Given the description of an element on the screen output the (x, y) to click on. 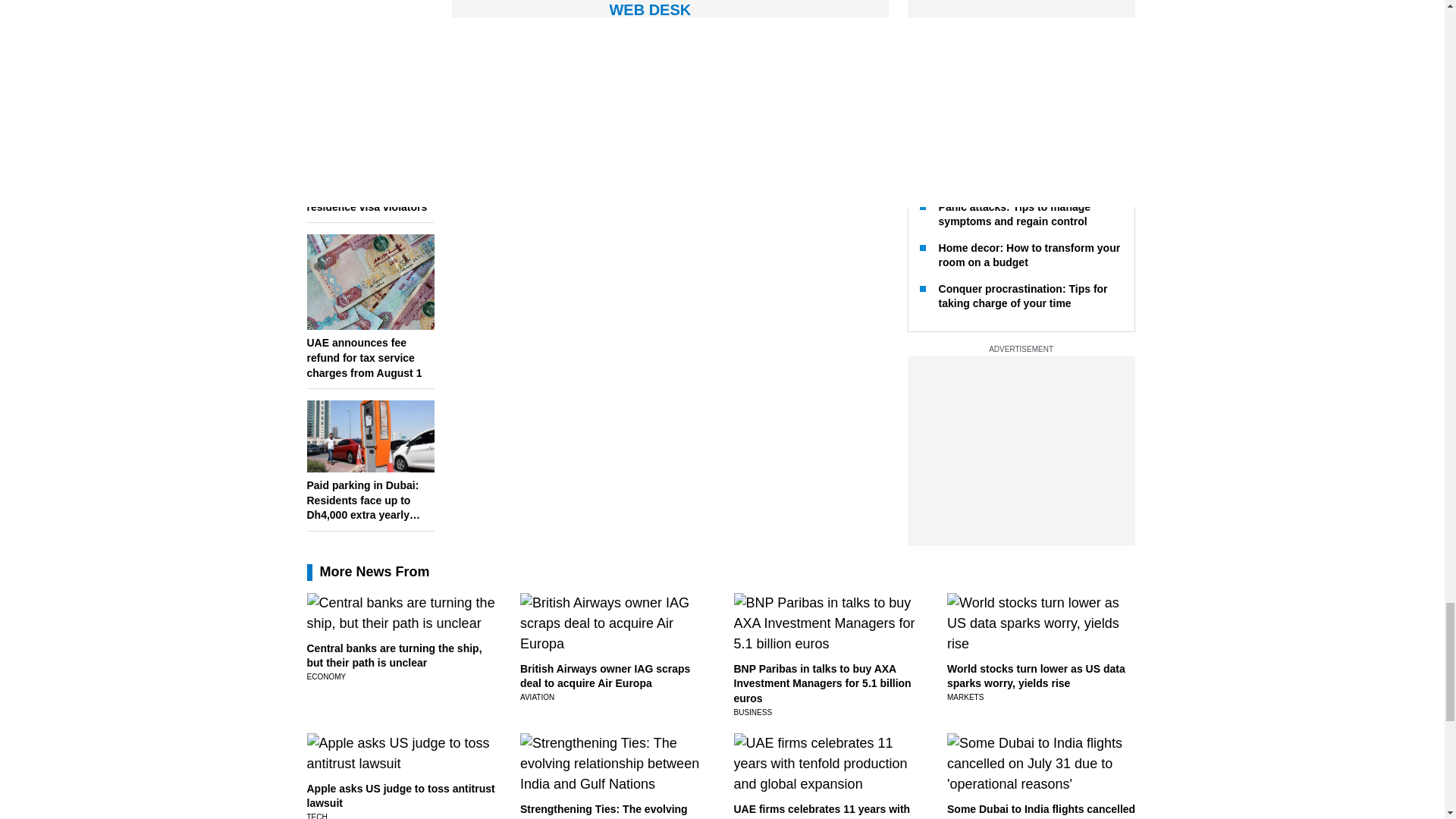
World stocks turn lower as US data sparks worry, yields rise (1036, 676)
British Airways owner IAG scraps deal to acquire Air Europa (604, 676)
Apple asks US judge to toss antitrust lawsuit (400, 795)
